Given the description of an element on the screen output the (x, y) to click on. 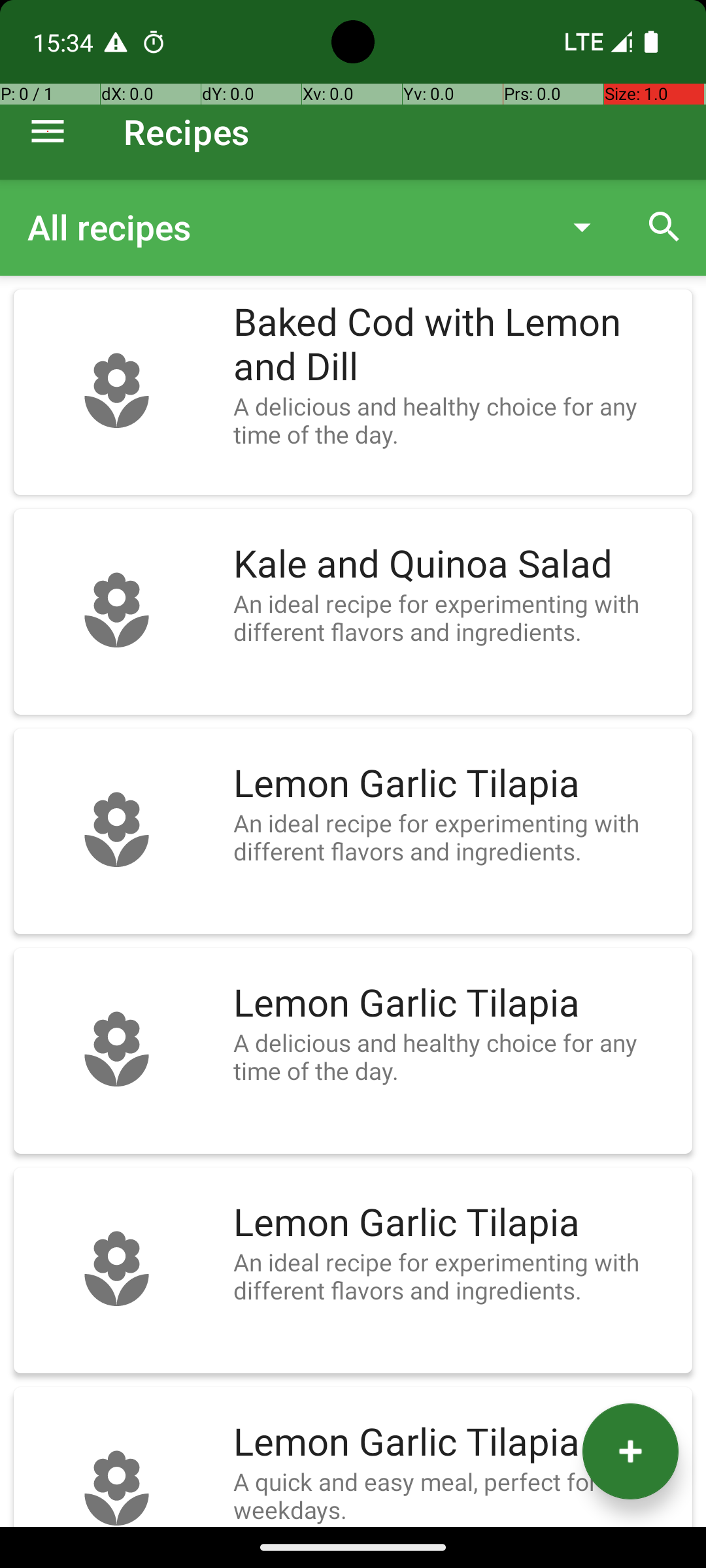
Lemon Garlic Tilapia Element type: android.widget.TextView (455, 783)
